Given the description of an element on the screen output the (x, y) to click on. 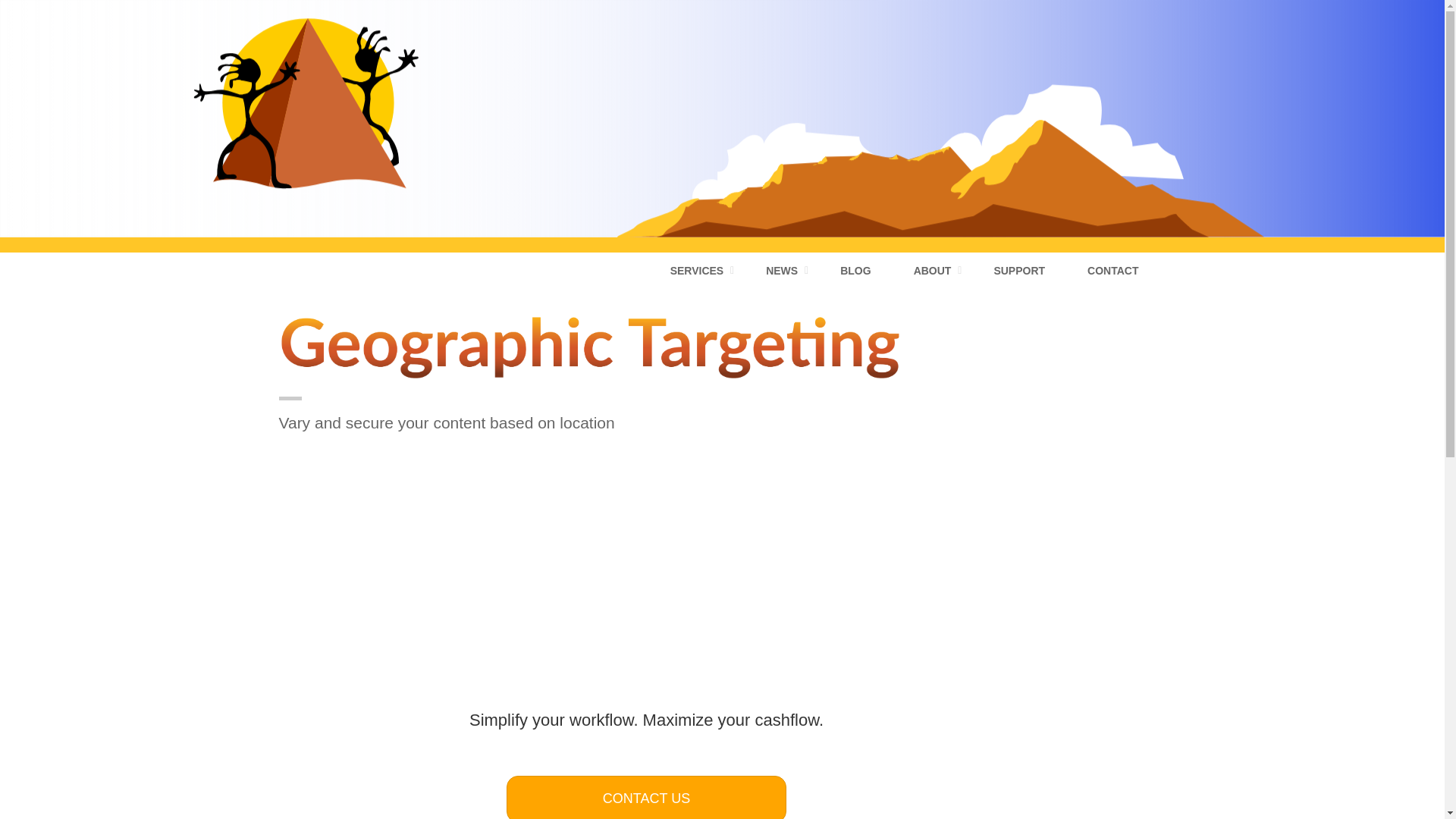
SERVICES (697, 270)
